Given the description of an element on the screen output the (x, y) to click on. 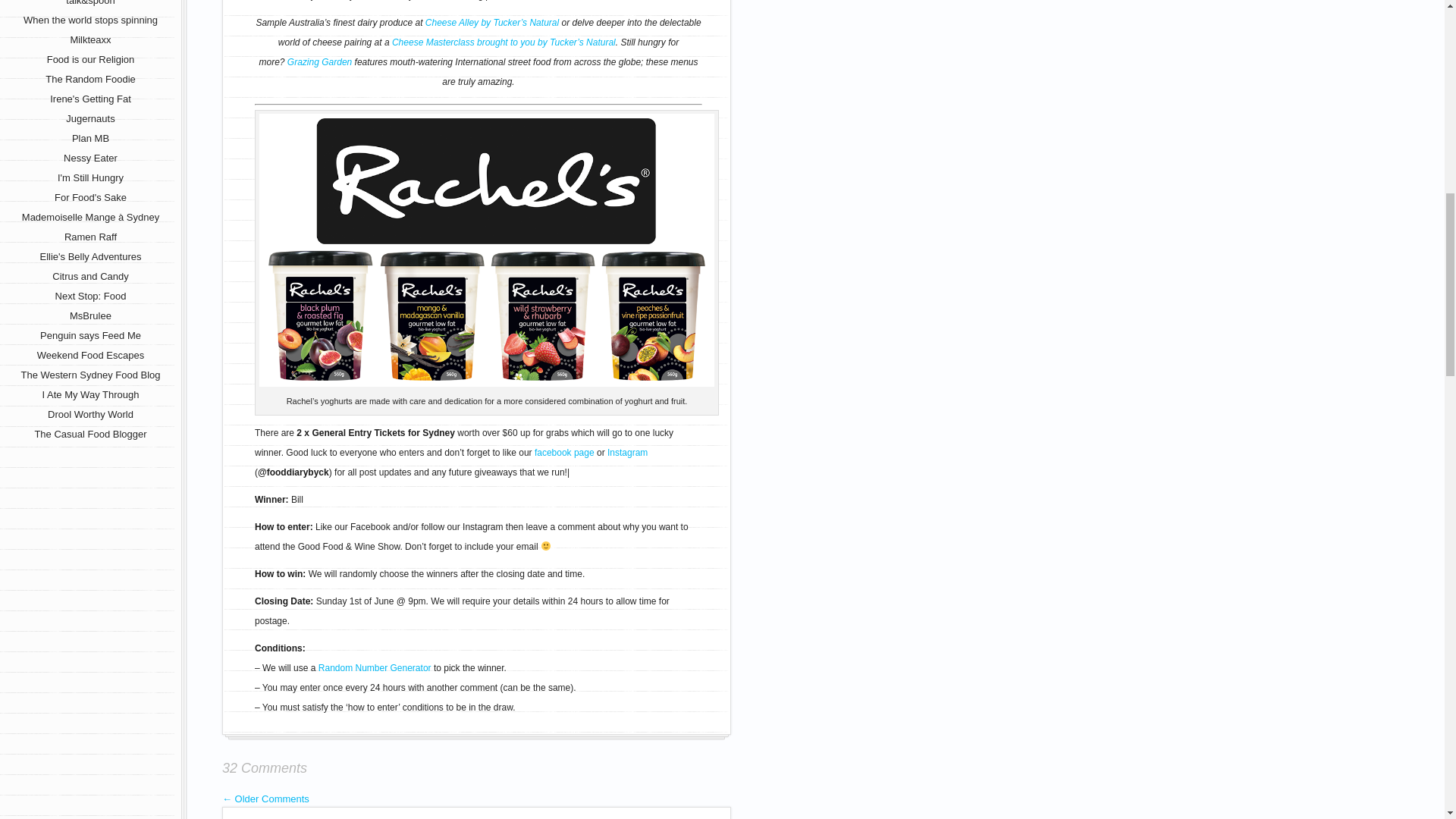
Cheese Masterclass (503, 41)
Weekend Food Escapes (90, 355)
Grazing Garden (319, 61)
The Western Sydney Food Blog (90, 374)
Ellie's Belly Adventures (90, 256)
Drool Worthy World (90, 414)
Plan MB (90, 138)
Food is our Religion (90, 59)
Irene's Getting Fat (90, 98)
Next Stop: Food (90, 296)
Nessy Eater (90, 157)
The Casual Food Blogger (90, 433)
I'm Still Hungry (90, 177)
Jugernauts (90, 118)
